Given the description of an element on the screen output the (x, y) to click on. 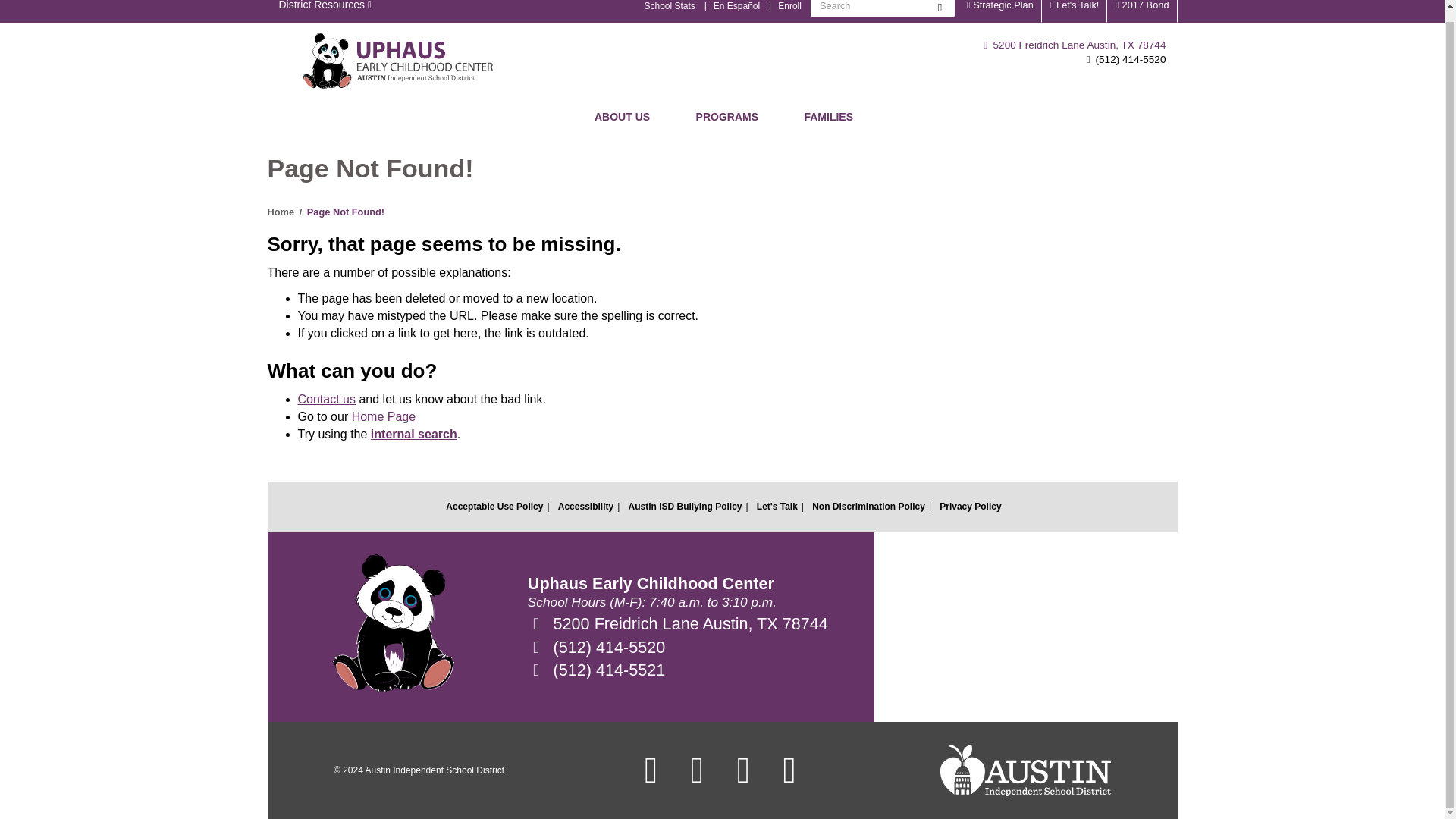
PROGRAMS (726, 116)
FAMILIES (828, 116)
Search (939, 8)
Home (397, 60)
District Resources (324, 11)
Enroll (789, 11)
School Stats (668, 11)
Google Map to Uphaus Early Childhood Center (1024, 626)
Visit Austin ISD's Website (1024, 770)
  5200 Freidrich Lane Austin, TX 78744 (1075, 44)
